Given the description of an element on the screen output the (x, y) to click on. 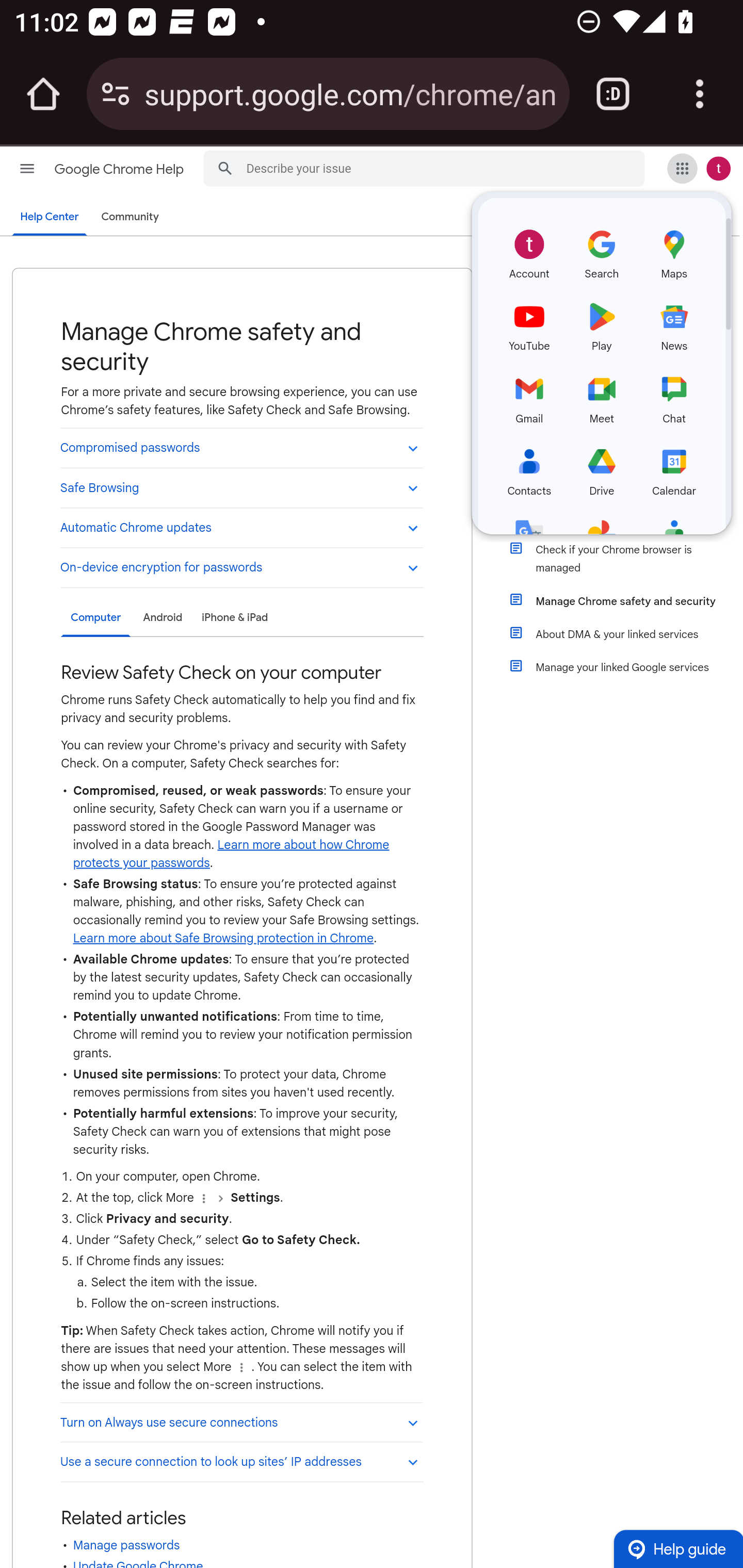
Open the home page (43, 93)
Connection is secure (115, 93)
Switch or close tabs (612, 93)
Customize and control Google Chrome (699, 93)
Main menu (27, 168)
Google Chrome Help (120, 169)
Search Help Center (224, 167)
Google apps (681, 168)
Help Center (48, 217)
Community (129, 217)
Account (529, 252)
Search (601, 252)
Maps (673, 252)
YouTube (529, 324)
Play (601, 324)
News (673, 324)
Gmail (529, 397)
Meet (601, 397)
Chat (673, 397)
Compromised passwords (240, 446)
Contacts (529, 469)
Drive (601, 469)
Calendar (673, 469)
Safe Browsing (240, 487)
Automatic Chrome updates (240, 526)
Check if your Chrome browser is managed (626, 558)
On-device encryption for passwords (240, 567)
Manage Chrome safety and security (626, 600)
Computer (95, 617)
Android (161, 616)
iPhone & iPad (234, 616)
About DMA & your linked services (626, 633)
Manage your linked Google services (626, 667)
Turn on Always use secure connections (240, 1421)
Related articles (123, 1518)
Help guide (677, 1548)
Manage passwords (125, 1545)
